Given the description of an element on the screen output the (x, y) to click on. 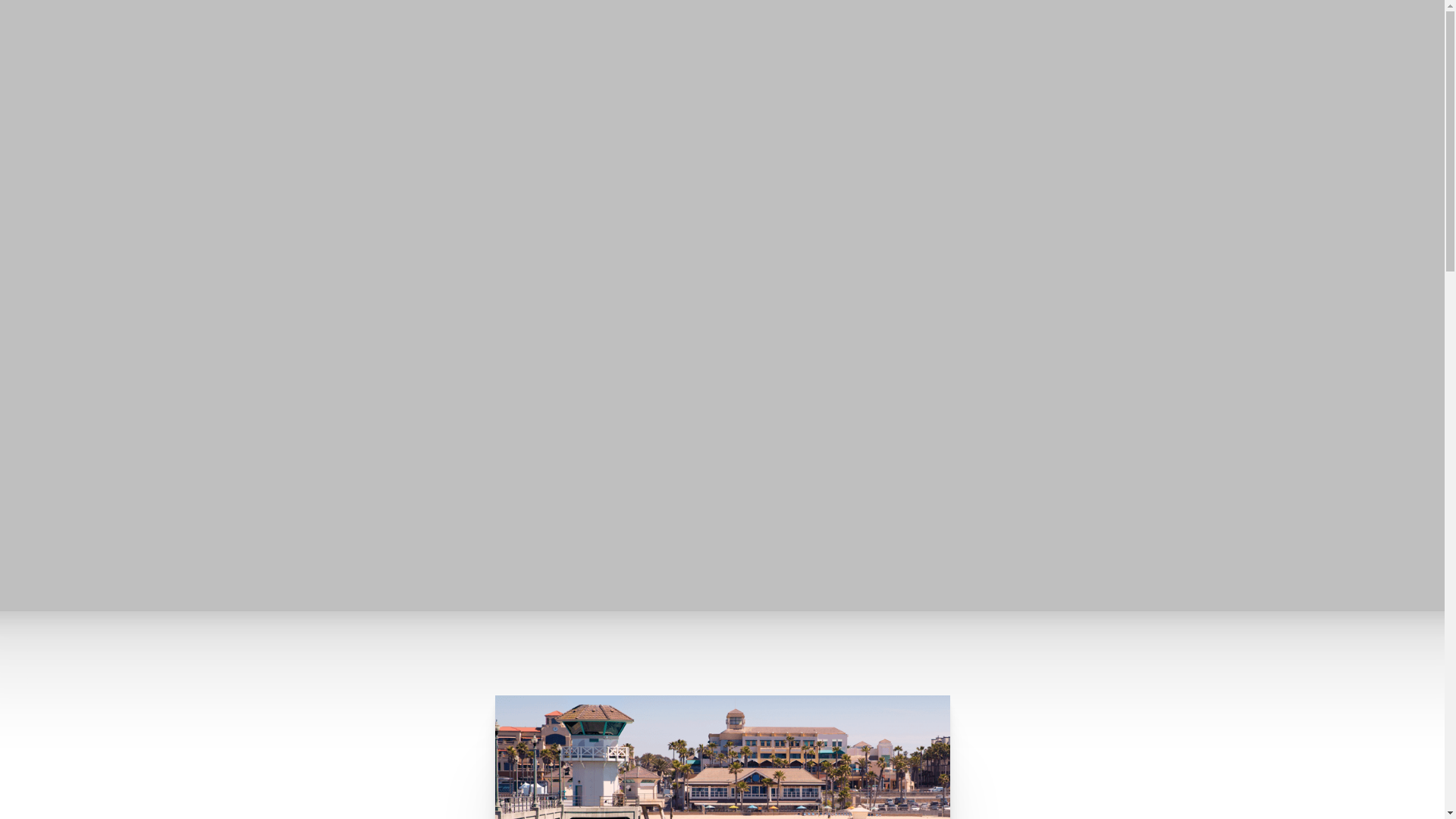
SCHEDULE CONSULTATION (154, 56)
